Given the description of an element on the screen output the (x, y) to click on. 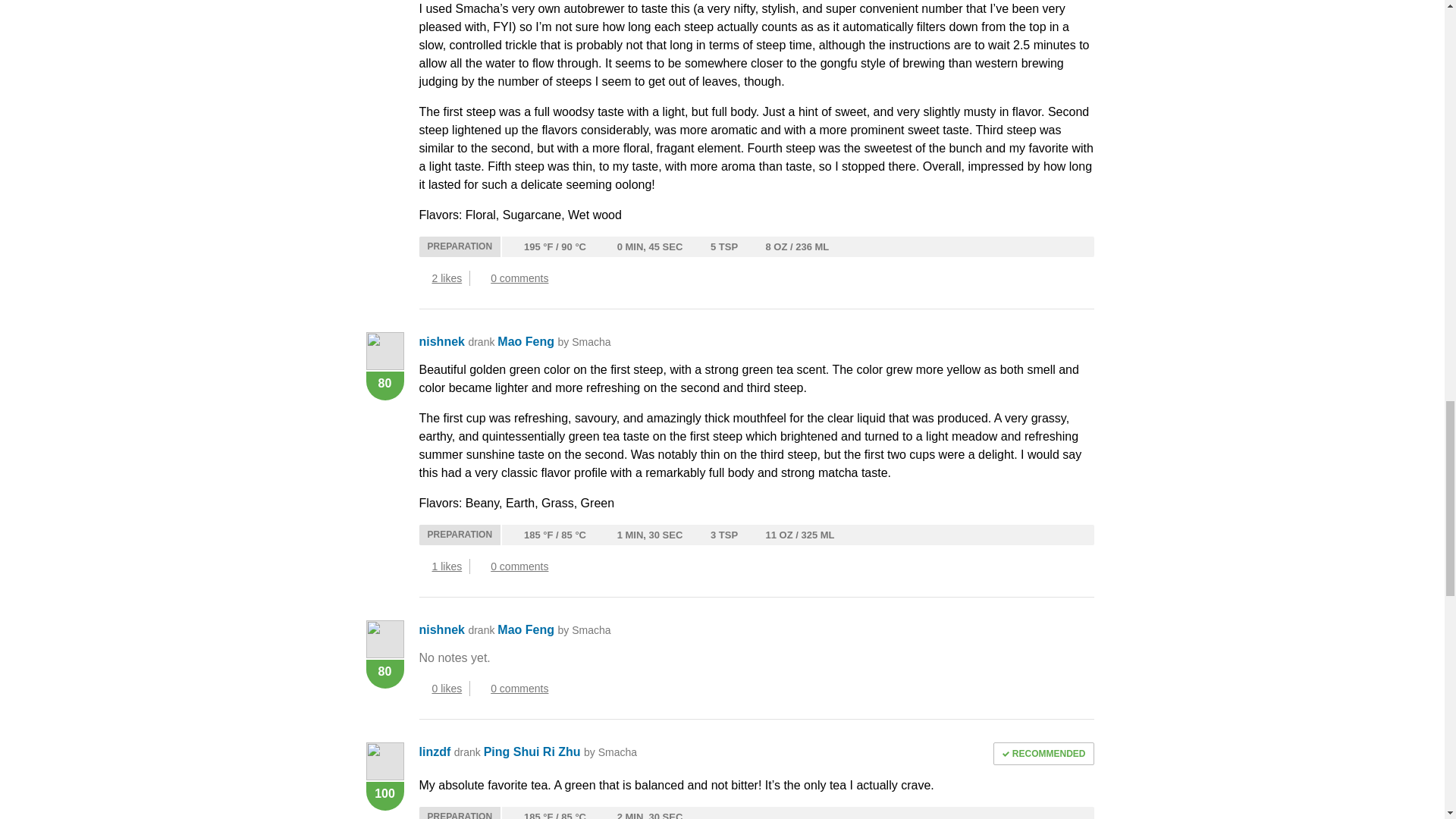
Like This (423, 277)
Like This (423, 566)
Like This (423, 688)
